Given the description of an element on the screen output the (x, y) to click on. 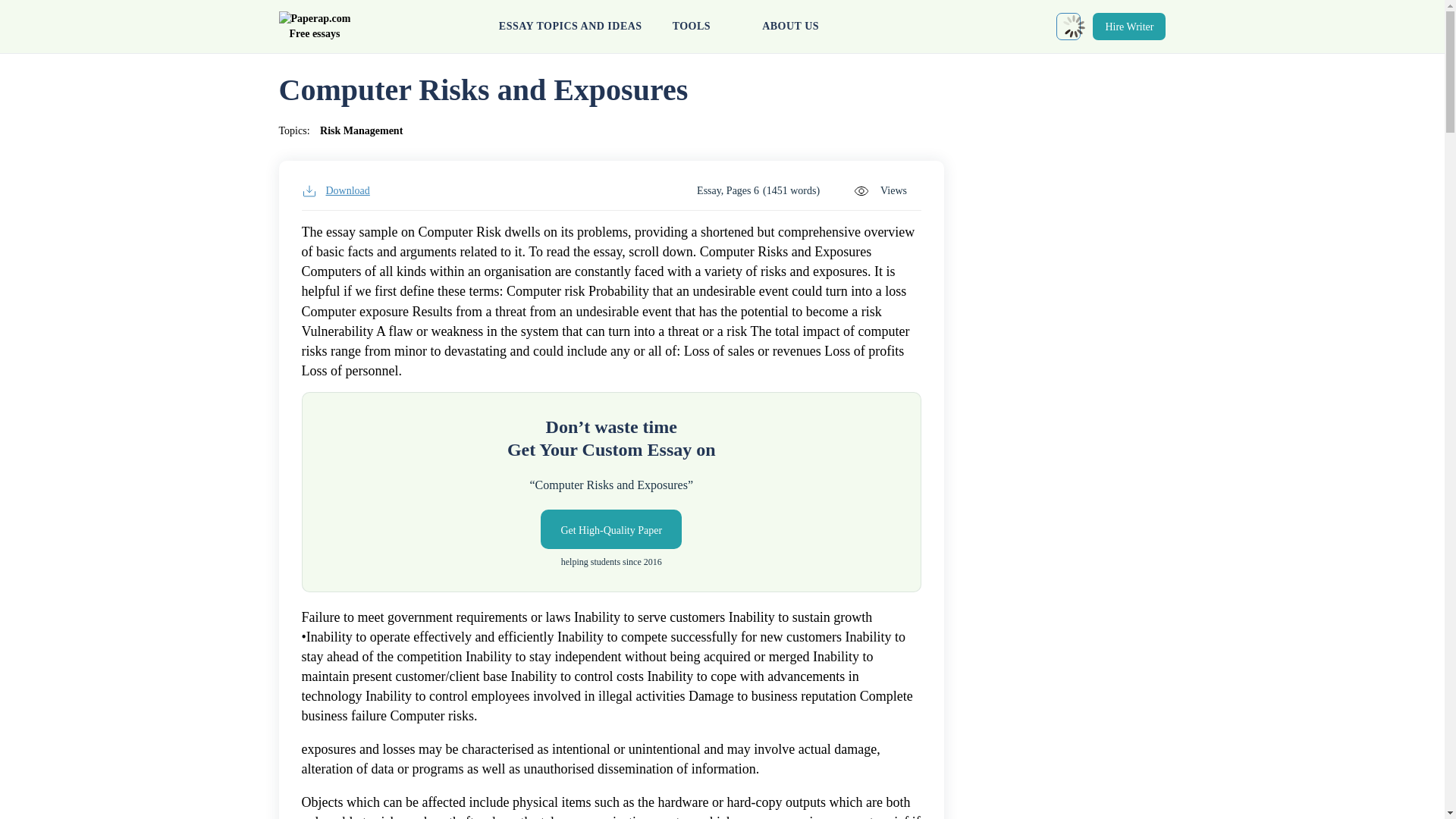
Hire Writer (1129, 26)
Get High-Quality Paper (610, 528)
Download (335, 191)
Risk Management (361, 130)
ESSAY TOPICS AND IDEAS (570, 26)
TOOLS (703, 26)
Free essays (314, 26)
ABOUT US (790, 26)
